Given the description of an element on the screen output the (x, y) to click on. 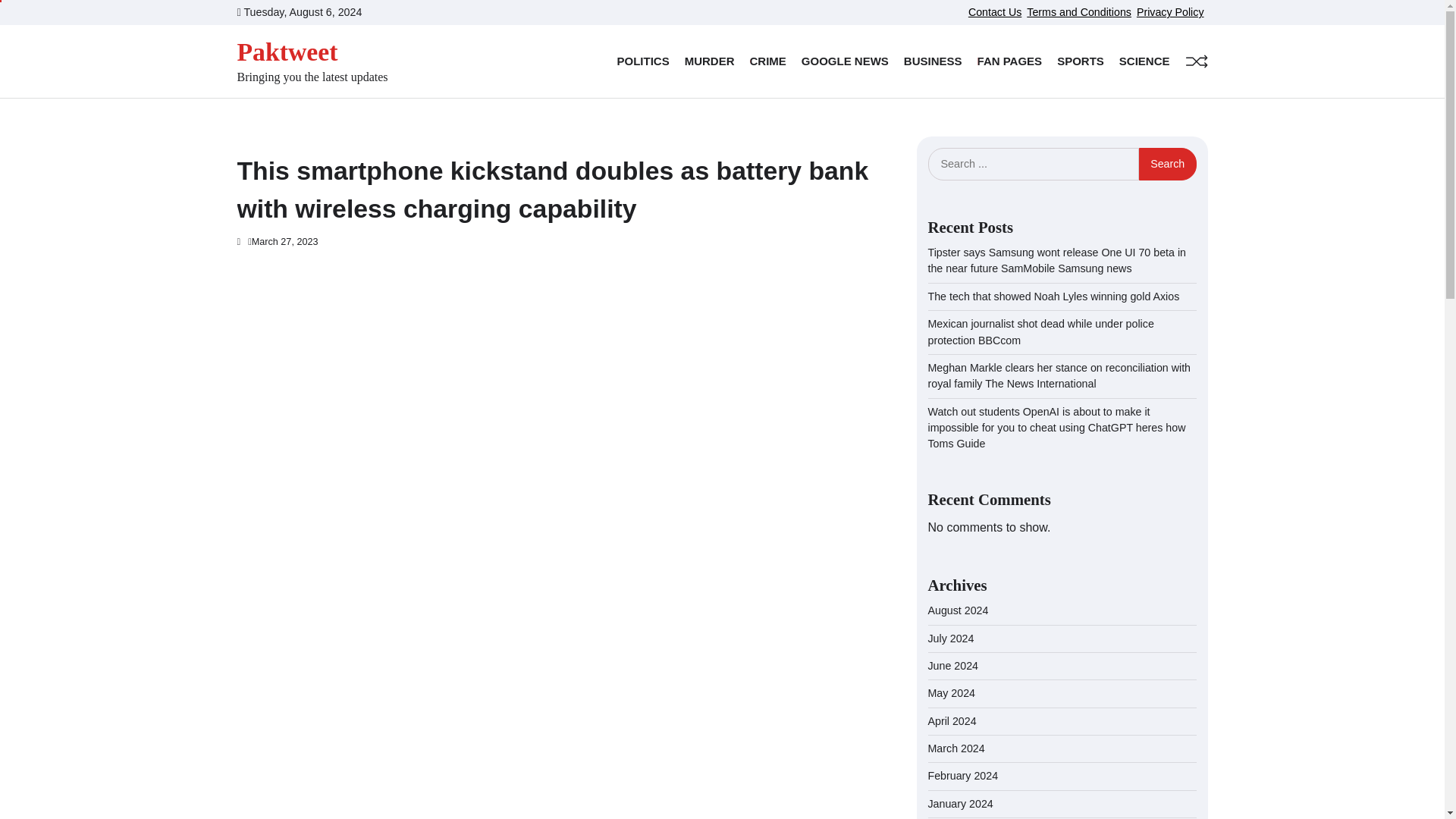
Paktweet (286, 51)
SPORTS (1080, 61)
Search (1167, 164)
MURDER (709, 61)
SCIENCE (1144, 61)
Search (1167, 164)
Privacy Policy (1170, 11)
The tech that showed Noah Lyles winning gold Axios (1053, 296)
GOOGLE NEWS (845, 61)
Search (1167, 164)
Terms and Conditions (1078, 11)
BUSINESS (933, 61)
